Given the description of an element on the screen output the (x, y) to click on. 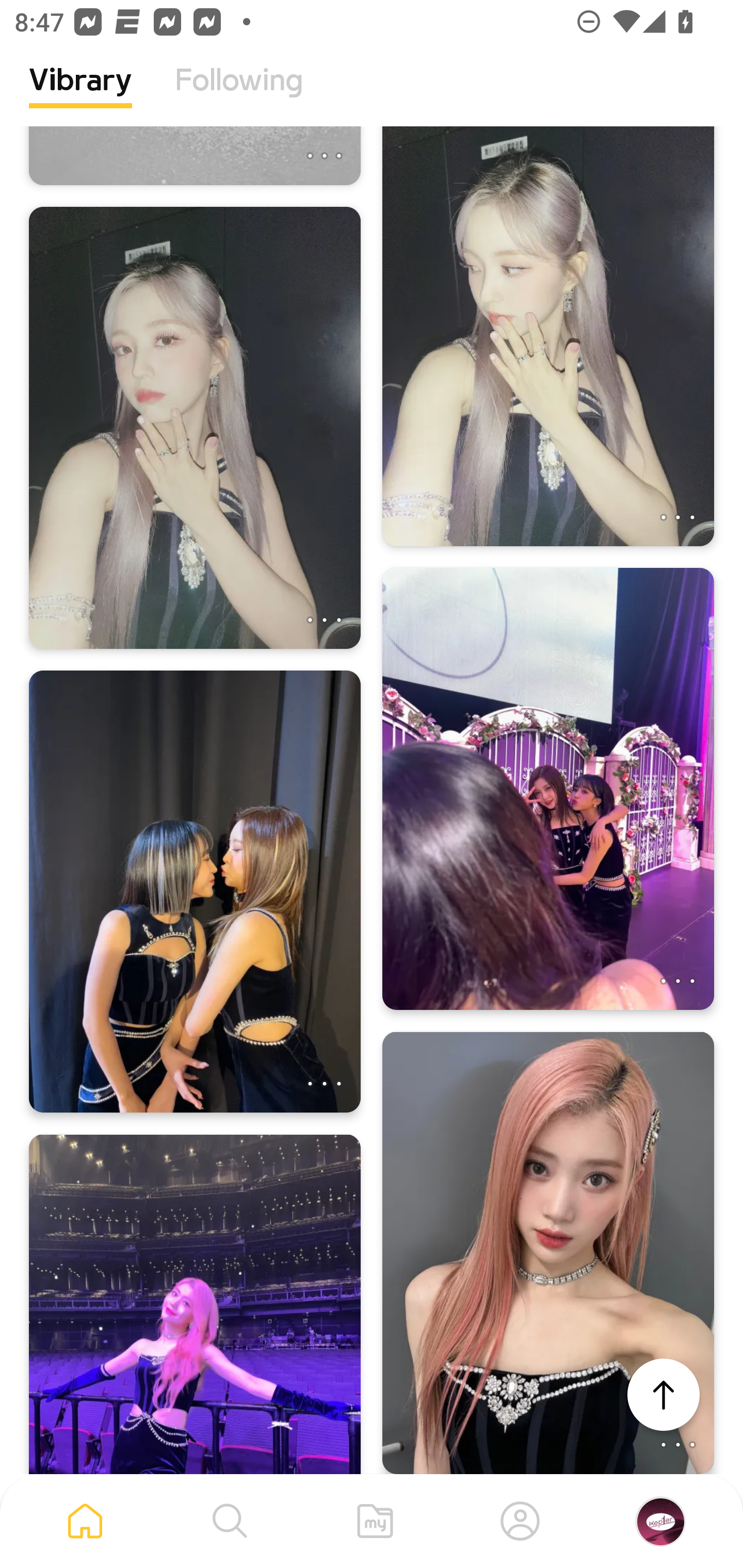
Vibrary (80, 95)
Following (239, 95)
